Given the description of an element on the screen output the (x, y) to click on. 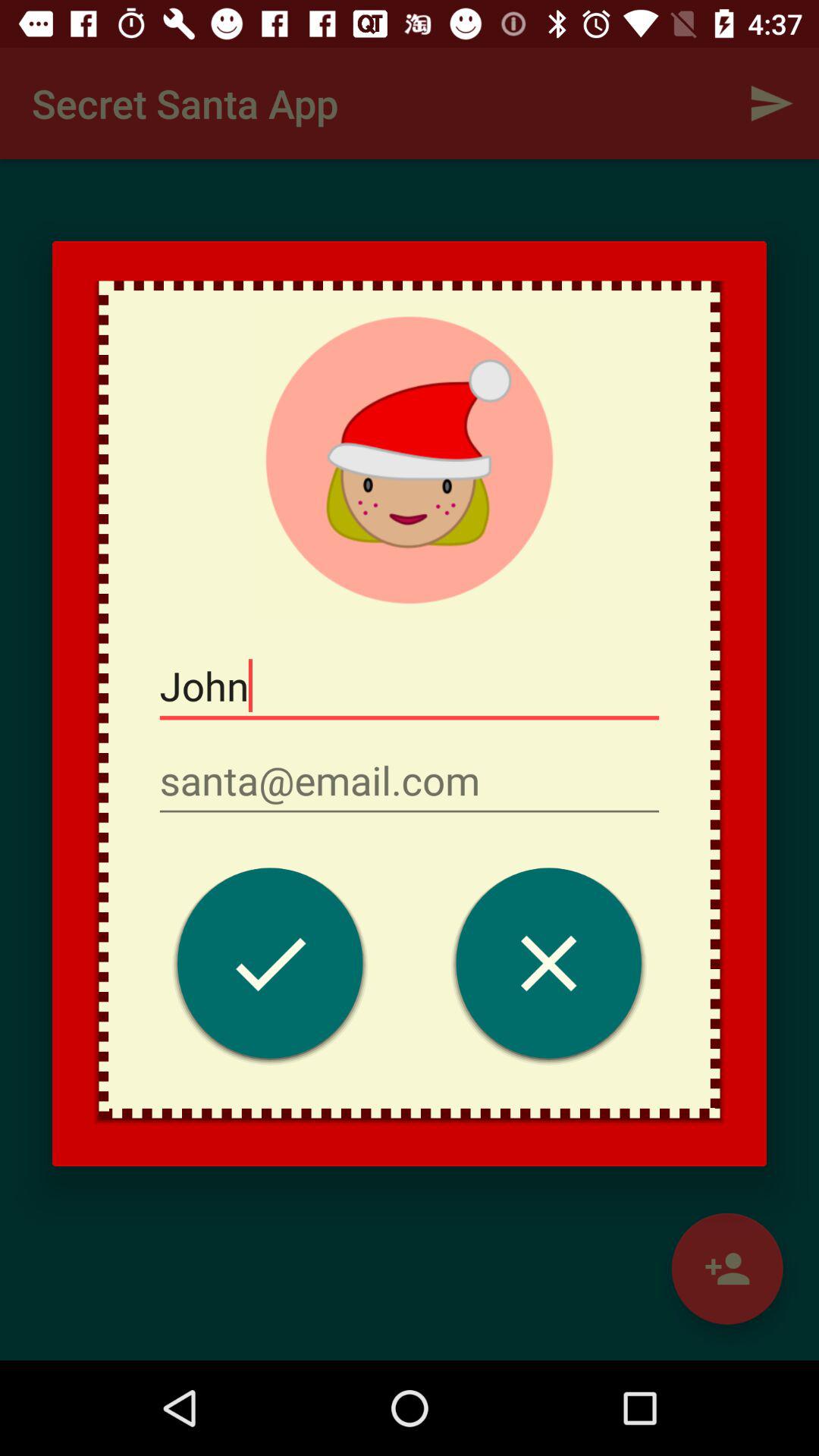
santa contacts secret (269, 966)
